Given the description of an element on the screen output the (x, y) to click on. 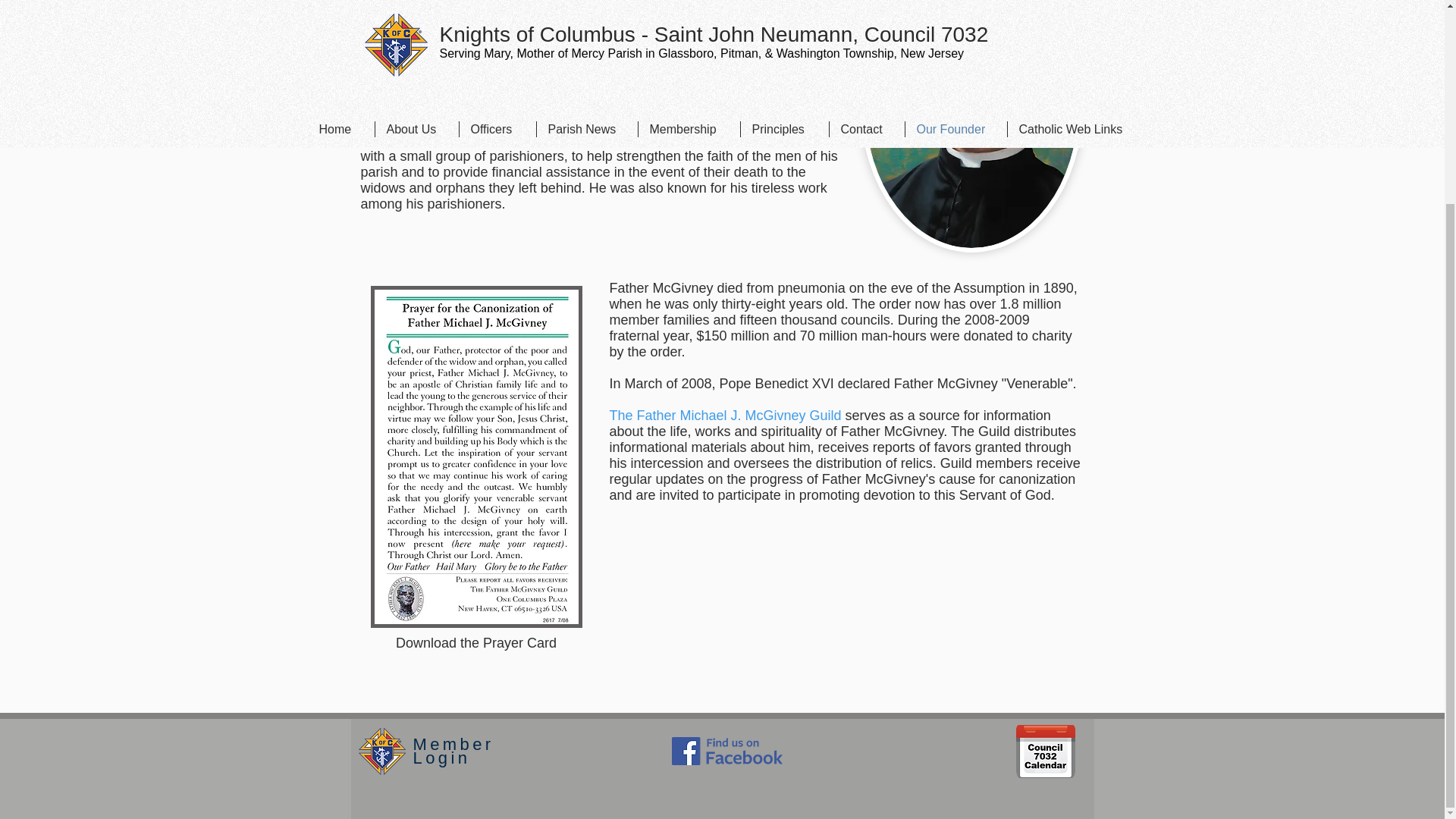
Download the Prayer Card (476, 642)
Member (452, 483)
Login (441, 496)
The Father Michael J. McGivney Guild (725, 415)
